Given the description of an element on the screen output the (x, y) to click on. 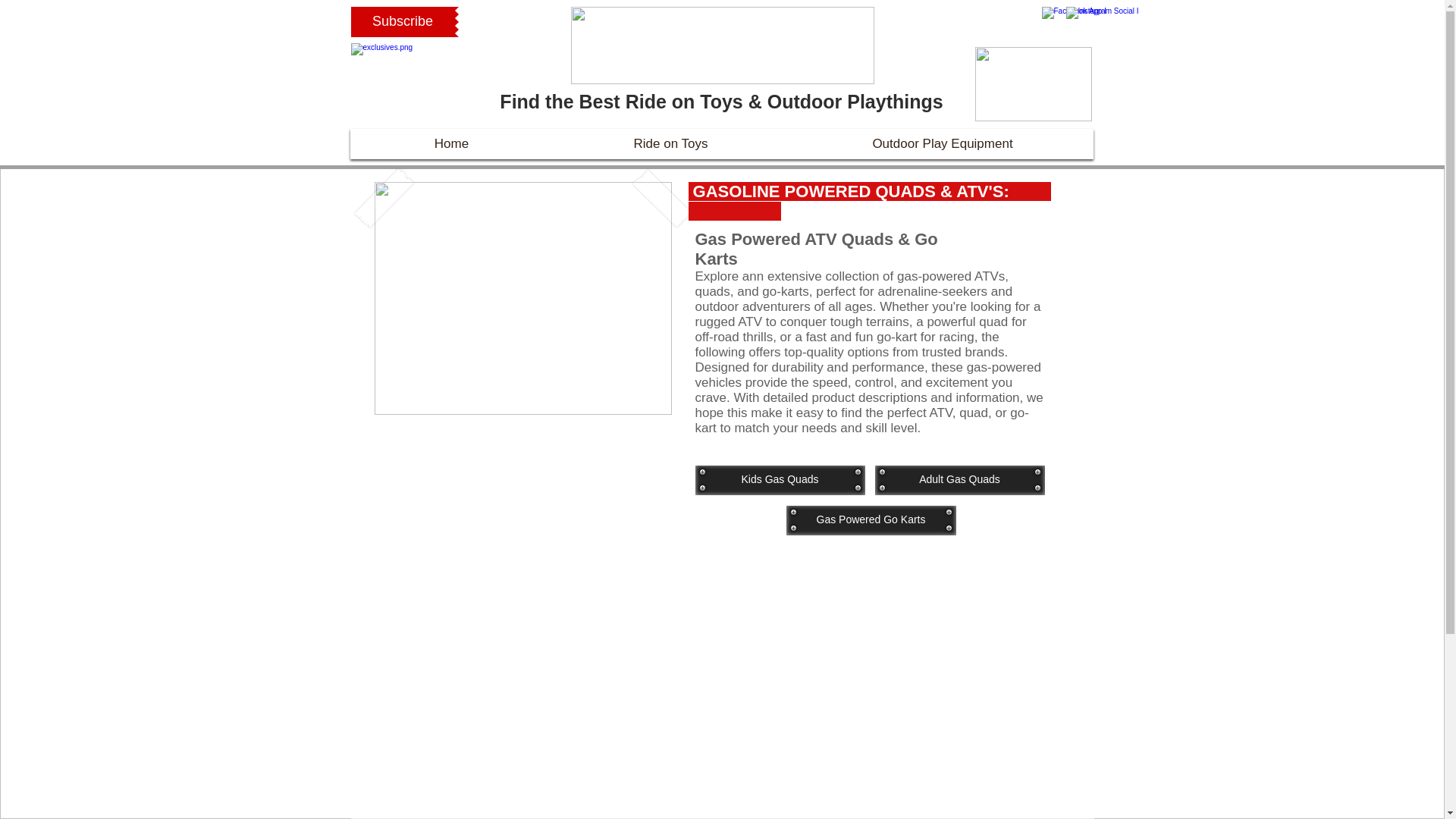
Kids Gas Quads (779, 480)
Adult Gas Quads (960, 480)
Gas Powered Go Karts (870, 520)
Outdoor Play Equipment (942, 144)
Subscribe (402, 21)
Home (450, 144)
Ride on Toys (671, 144)
